Given the description of an element on the screen output the (x, y) to click on. 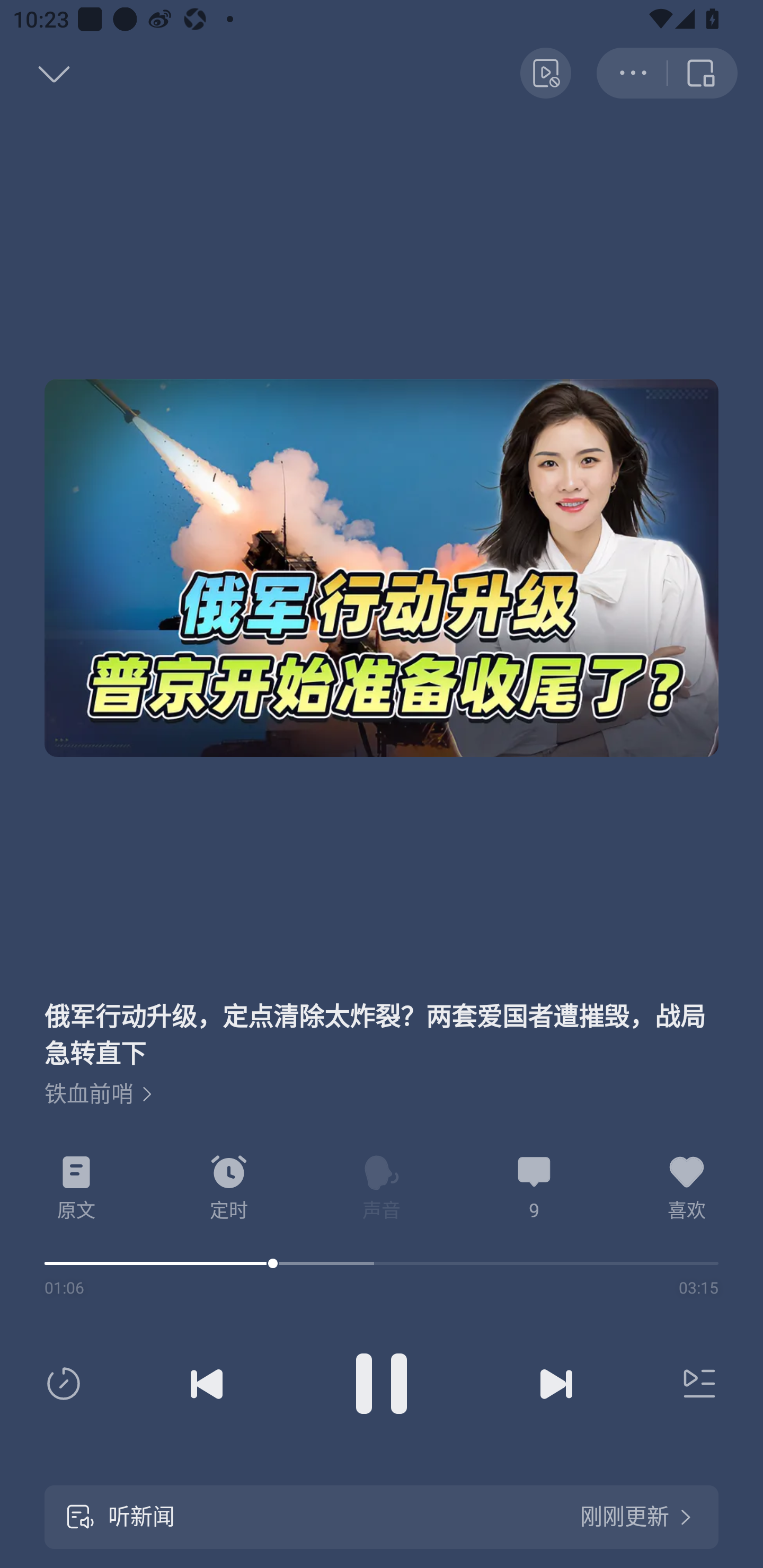
返回 (35, 72)
更多 (631, 72)
返回 (702, 72)
铁血前哨 (98, 1094)
原文 (76, 1188)
定时，按钮 定时 (228, 1188)
声音，音色按钮 声音 (381, 1188)
9条评论，按钮 9 (533, 1188)
喜欢，按钮 喜欢 (686, 1188)
暂停 (381, 1383)
倍速，按钮 (67, 1383)
列表，按钮 (695, 1383)
听新闻 刚刚更新 (381, 1516)
